Given the description of an element on the screen output the (x, y) to click on. 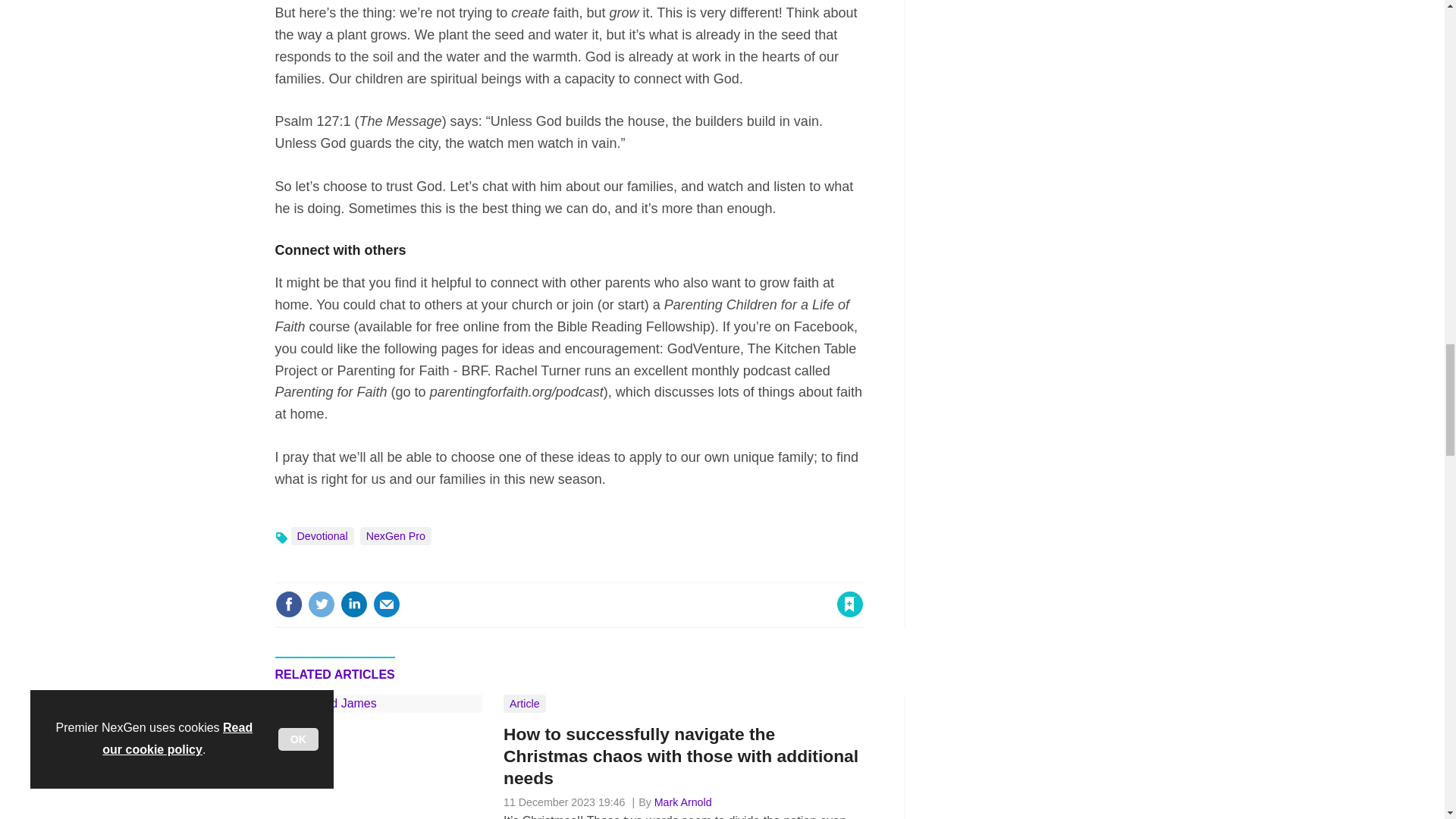
Share this on Linked in (352, 604)
Share this on Twitter (320, 604)
3rd party ad content (1055, 756)
Email this article (386, 604)
Share this on Facebook (288, 604)
